Given the description of an element on the screen output the (x, y) to click on. 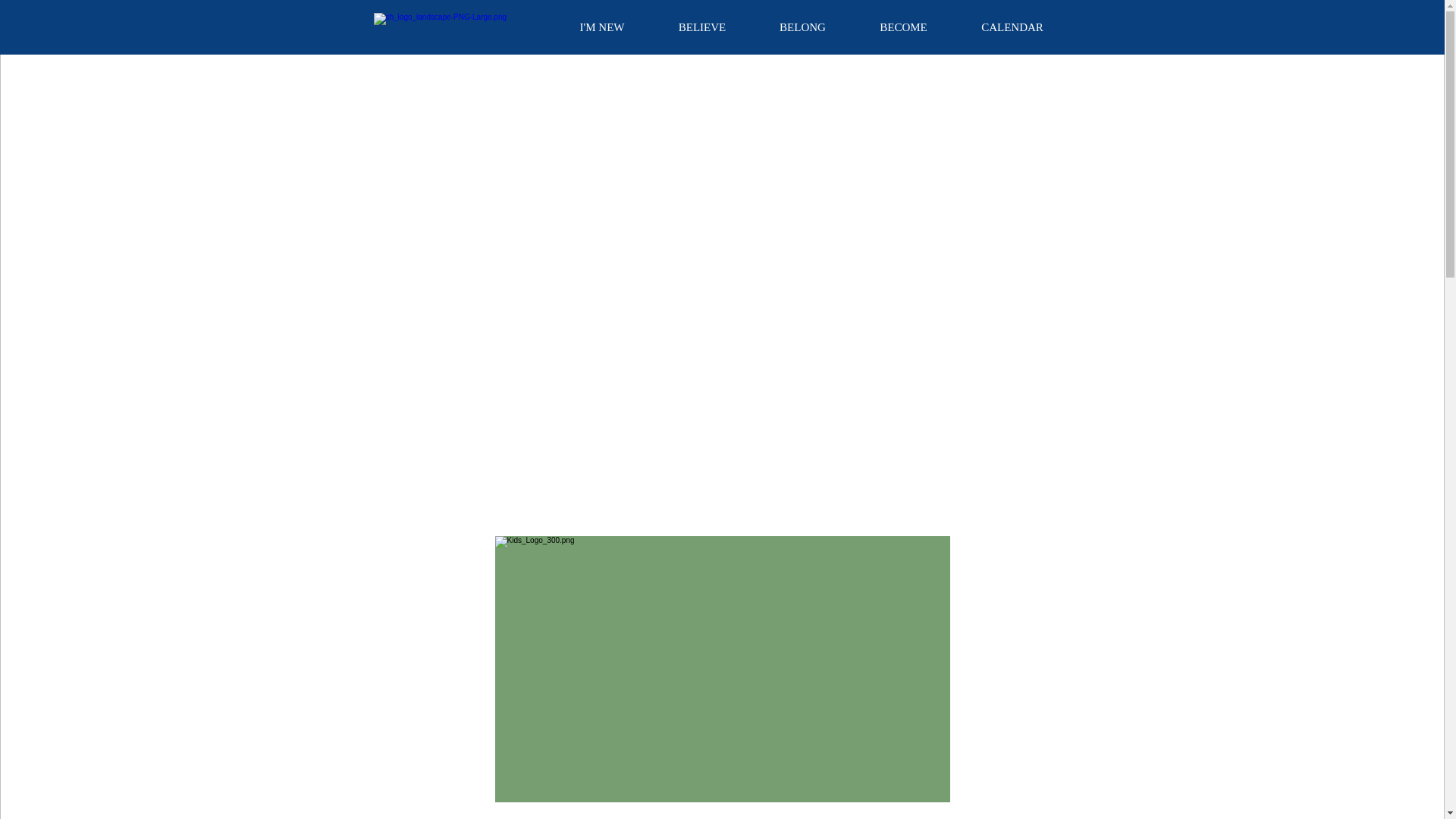
BELONG (801, 26)
BELIEVE (702, 26)
CALENDAR (1011, 26)
BECOME (902, 26)
children-in-circleweb.jpg (722, 669)
